Given the description of an element on the screen output the (x, y) to click on. 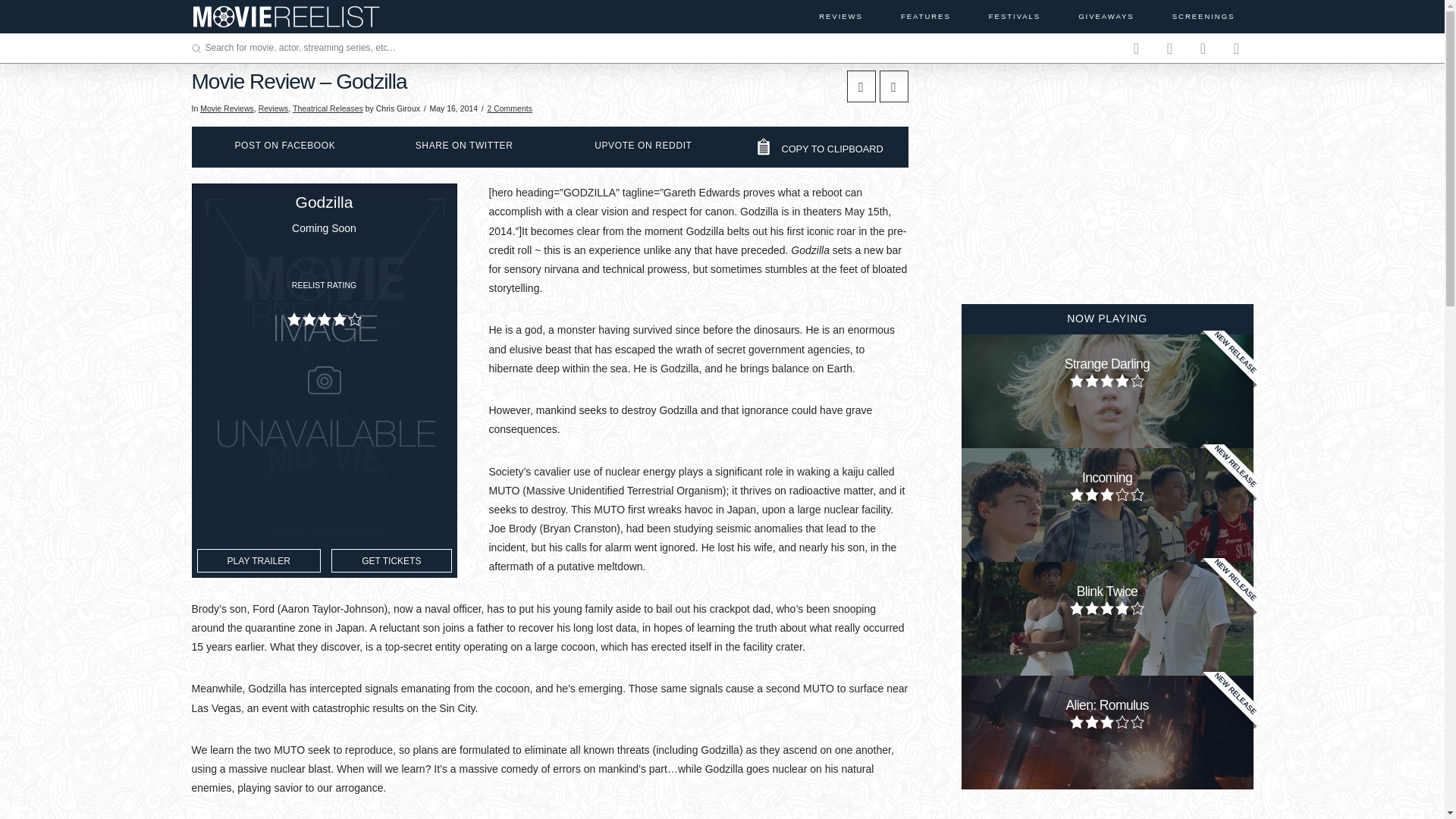
Advertisement (1106, 165)
SCREENINGS (1202, 16)
FEATURES (924, 16)
GIVEAWAYS (1104, 16)
REVIEWS (840, 16)
FESTIVALS (1013, 16)
